Given the description of an element on the screen output the (x, y) to click on. 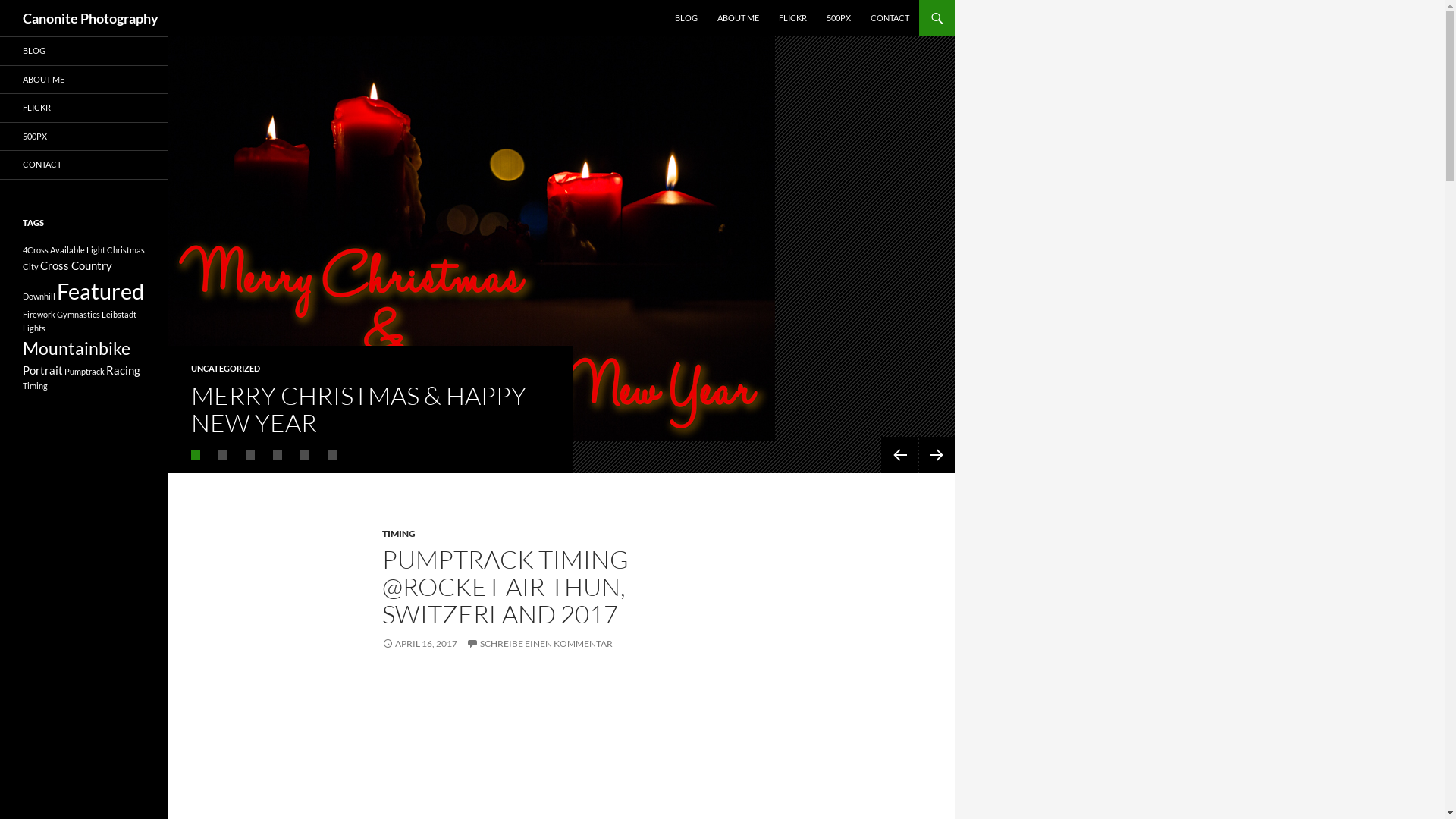
Available Light Element type: text (77, 249)
Lights Element type: text (33, 327)
3 Element type: text (250, 454)
PUMPTRACK TIMING @ROCKET AIR THUN, SWITZERLAND 2017 Element type: text (505, 586)
Firework Element type: text (38, 314)
6 Element type: text (332, 454)
500PX Element type: text (838, 18)
4Cross Element type: text (35, 249)
SPRINGE ZUM INHALT Element type: text (674, 0)
TIMING Element type: text (398, 533)
Mountainbike Element type: text (76, 347)
2 Element type: text (222, 454)
SCHREIBE EINEN KOMMENTAR Element type: text (539, 643)
5 Element type: text (304, 454)
500PX Element type: text (84, 136)
APRIL 16, 2017 Element type: text (419, 643)
FLICKR Element type: text (84, 108)
Suchen Element type: text (3, 0)
CONTACT Element type: text (889, 18)
Weiter Element type: text (937, 454)
ABOUT ME Element type: text (84, 79)
Timing Element type: text (34, 385)
City Element type: text (30, 265)
CONTACT Element type: text (84, 164)
Cross Country Element type: text (76, 264)
ABOUT ME Element type: text (738, 18)
Racing Element type: text (123, 369)
Canonite Photography Element type: text (90, 18)
Gymnastics Element type: text (78, 314)
UNCATEGORIZED Element type: text (225, 368)
Leibstadt Element type: text (118, 314)
BLOG Element type: text (84, 51)
MERRY CHRISTMAS & HAPPY NEW YEAR Element type: text (358, 408)
Pumptrack Element type: text (84, 371)
4 Element type: text (277, 454)
BLOG Element type: text (685, 18)
1 Element type: text (195, 454)
Christmas Element type: text (125, 249)
Portrait Element type: text (42, 369)
FLICKR Element type: text (792, 18)
Featured Element type: text (100, 290)
Downhill Element type: text (38, 296)
